Given the description of an element on the screen output the (x, y) to click on. 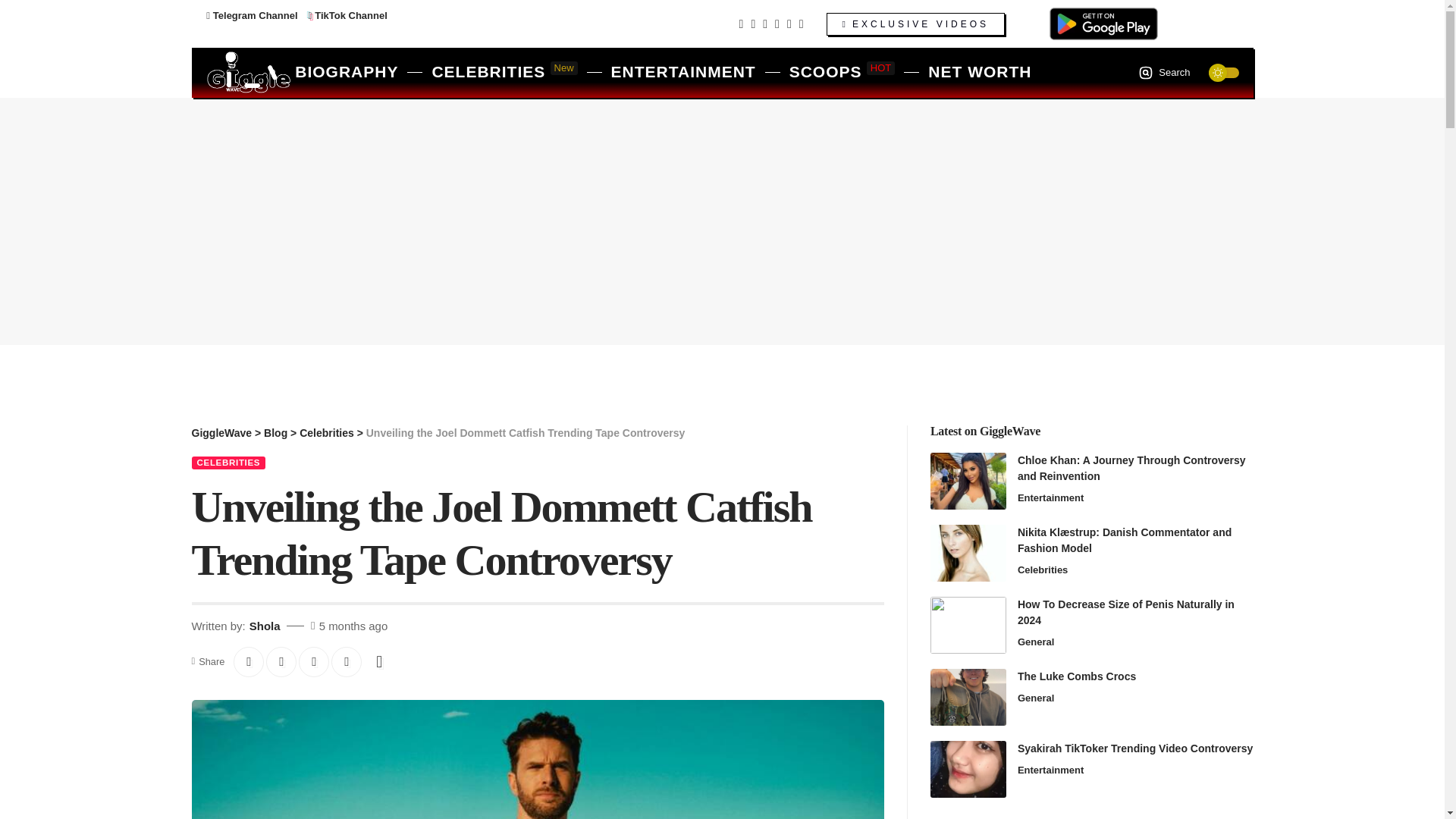
Telegram Channel (251, 15)
BIOGRAPHY (346, 72)
Go to the Celebrities Category archives. (326, 432)
TikTok Channel (347, 15)
EXCLUSIVE VIDEOS (915, 23)
Go to Blog. (274, 432)
Go to GiggleWave. (220, 432)
How To Decrease Size of Penis Naturally in 2024 (968, 625)
Chloe Khan: A Journey Through Controversy and Reinvention (968, 480)
Search (1163, 72)
